Given the description of an element on the screen output the (x, y) to click on. 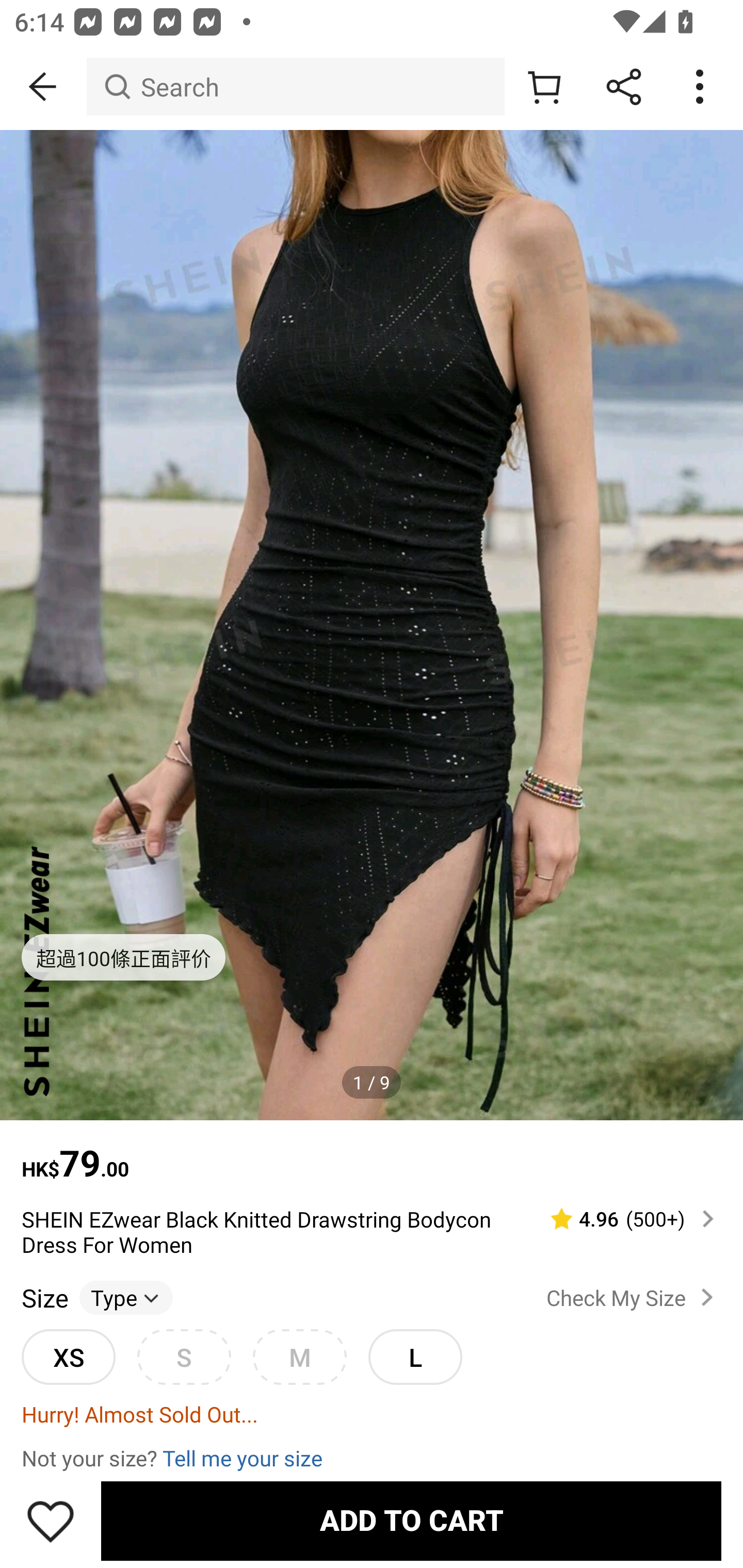
BACK (43, 86)
Search (295, 87)
1 / 9 (371, 1082)
HK$79.00 (371, 1152)
4.96 (500‎+) (623, 1219)
Size (44, 1297)
Type (126, 1297)
Check My Size (633, 1297)
XS XSunselected option (68, 1356)
S (184, 1356)
M (299, 1356)
L Lunselected option (415, 1356)
Hurry! Almost Sold Out... (371, 1413)
Not your size? Tell me your size (371, 1457)
ADD TO CART (411, 1520)
Save (50, 1520)
